Given the description of an element on the screen output the (x, y) to click on. 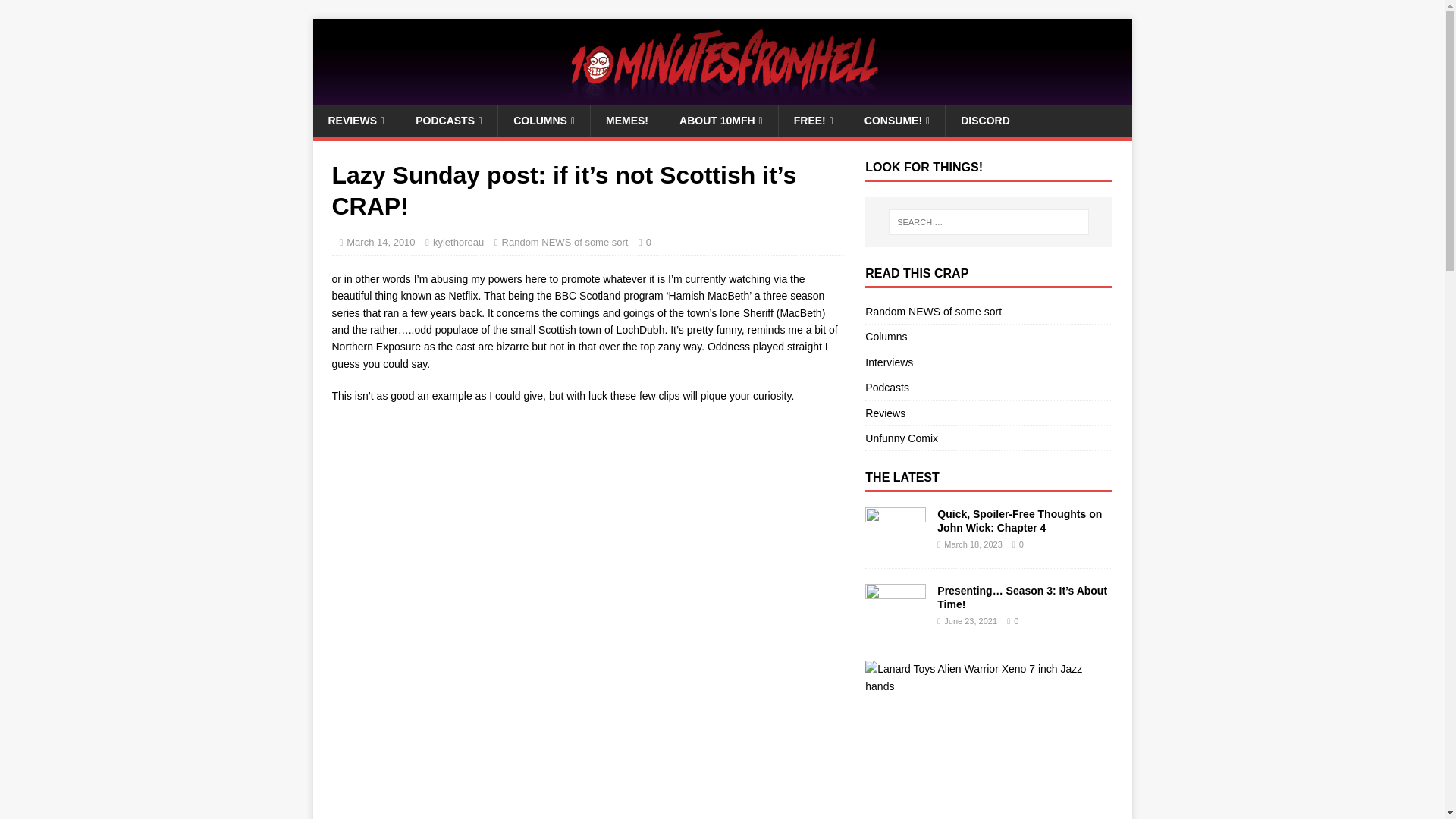
COLUMNS (543, 120)
Random NEWS of some sort (565, 242)
REVIEWS (355, 120)
March 14, 2010 (380, 242)
Quick, Spoiler-Free Thoughts on John Wick: Chapter 4 (895, 544)
FREE! (812, 120)
10 minutes from Hell (722, 96)
MEMES! (626, 120)
CONSUME! (896, 120)
PODCASTS (447, 120)
